Given the description of an element on the screen output the (x, y) to click on. 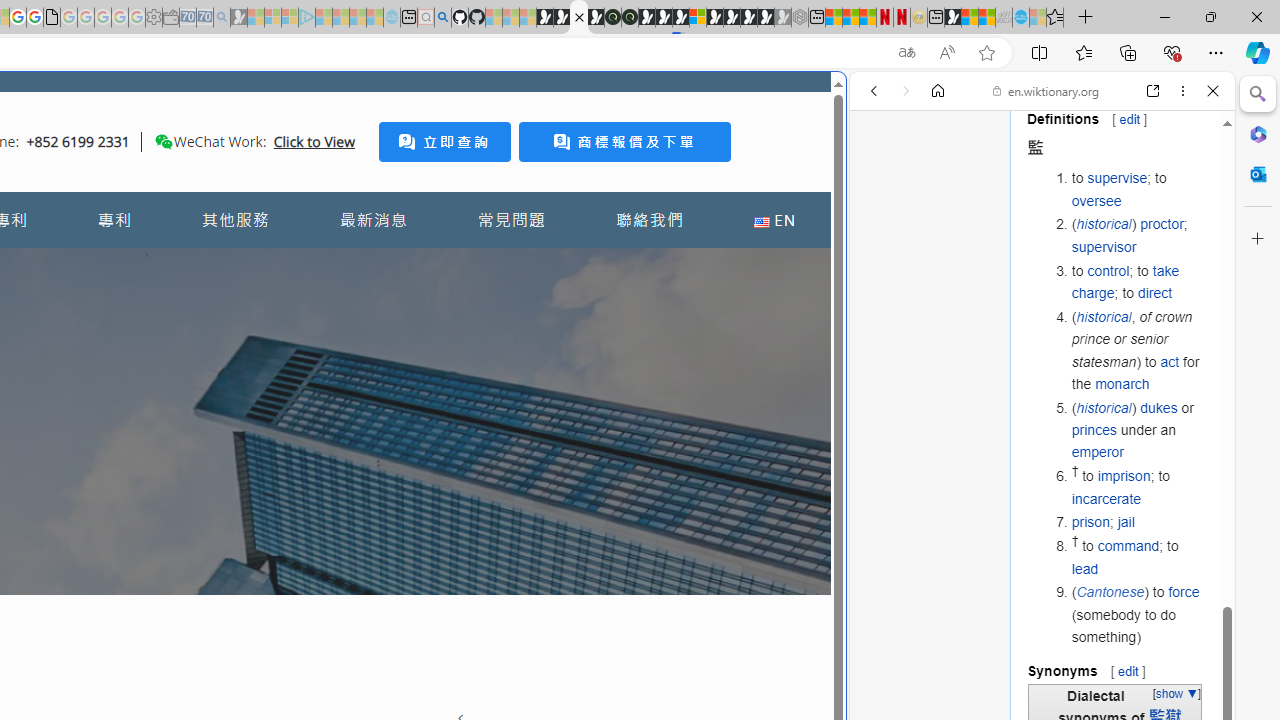
imprison (1123, 476)
(historical) dukes or princes under an emperor (1137, 429)
Future Focus Report 2024 (629, 17)
